Given the description of an element on the screen output the (x, y) to click on. 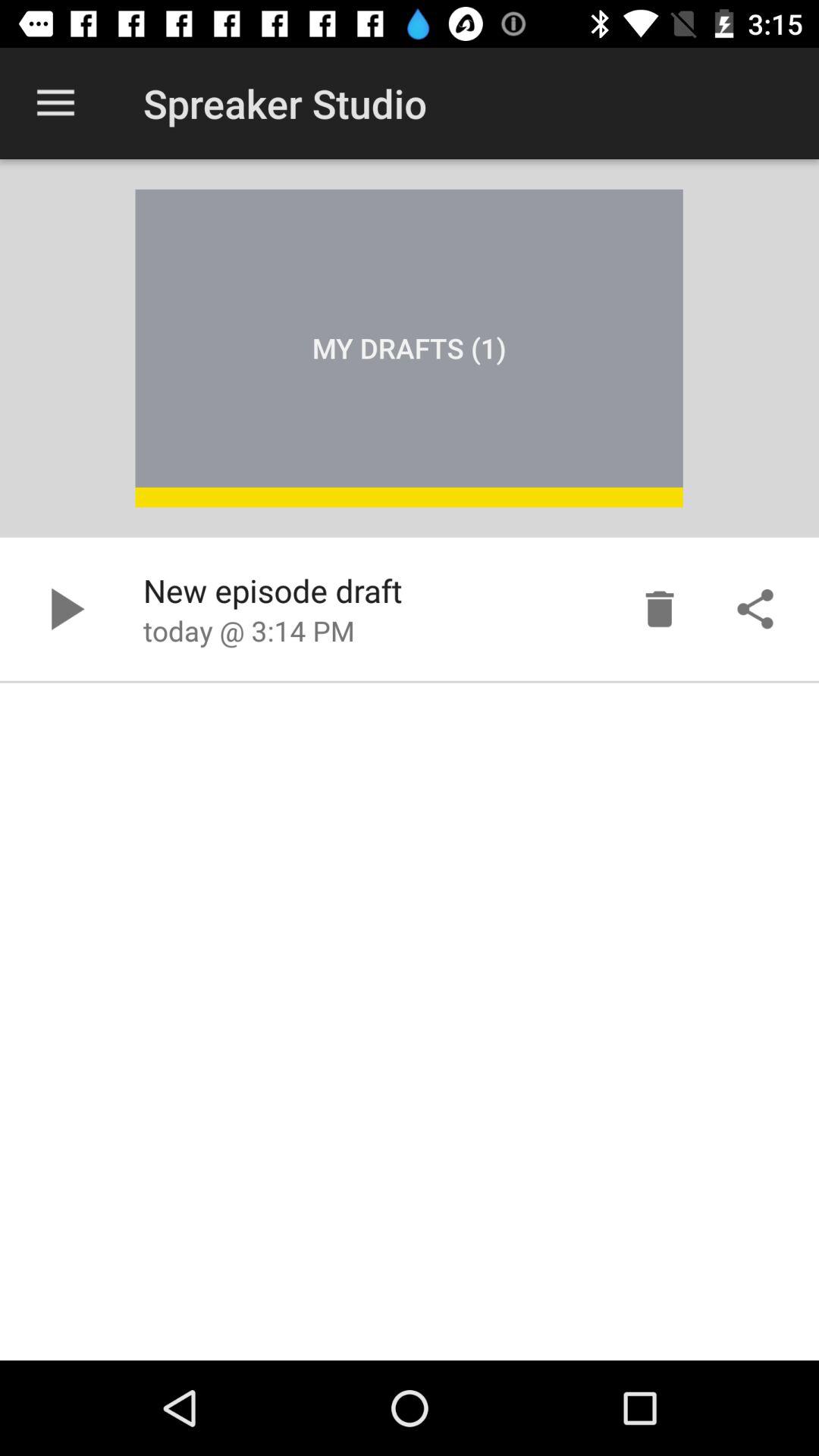
share draft (755, 608)
